Given the description of an element on the screen output the (x, y) to click on. 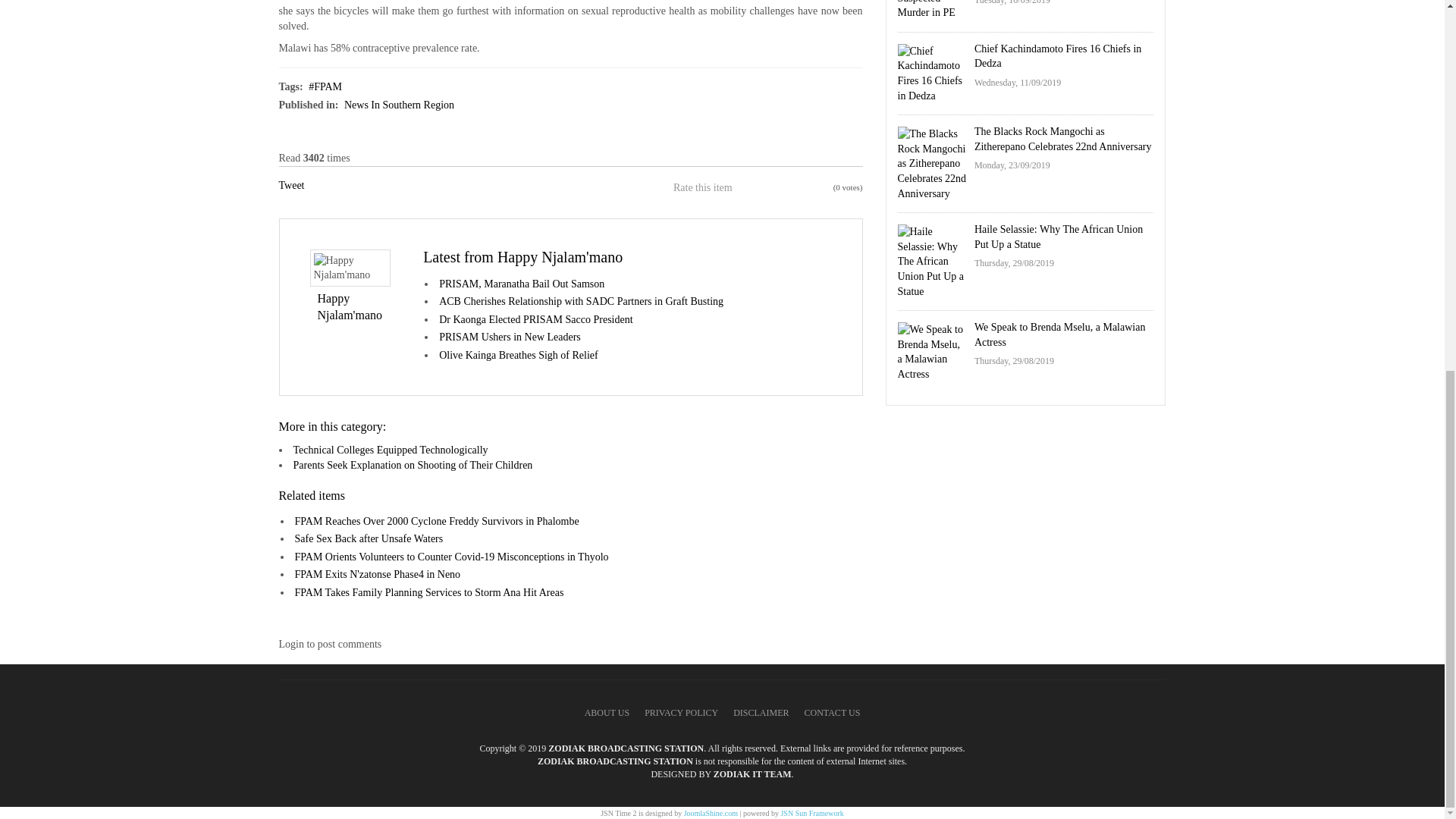
1 (744, 187)
3 (763, 187)
5 stars out of 5 (782, 187)
Continue reading "Woman Arrested for Suspected Murder in PE" (932, 10)
4 stars out of 5 (772, 187)
5 (782, 187)
News In Southern Region (398, 104)
JSN Sun Framework is the best Joomla template framework (811, 813)
FPAM (325, 86)
PRISAM, Maranatha Bail Out Samson (521, 283)
2 stars out of 5 (754, 187)
Tweet (291, 184)
